Given the description of an element on the screen output the (x, y) to click on. 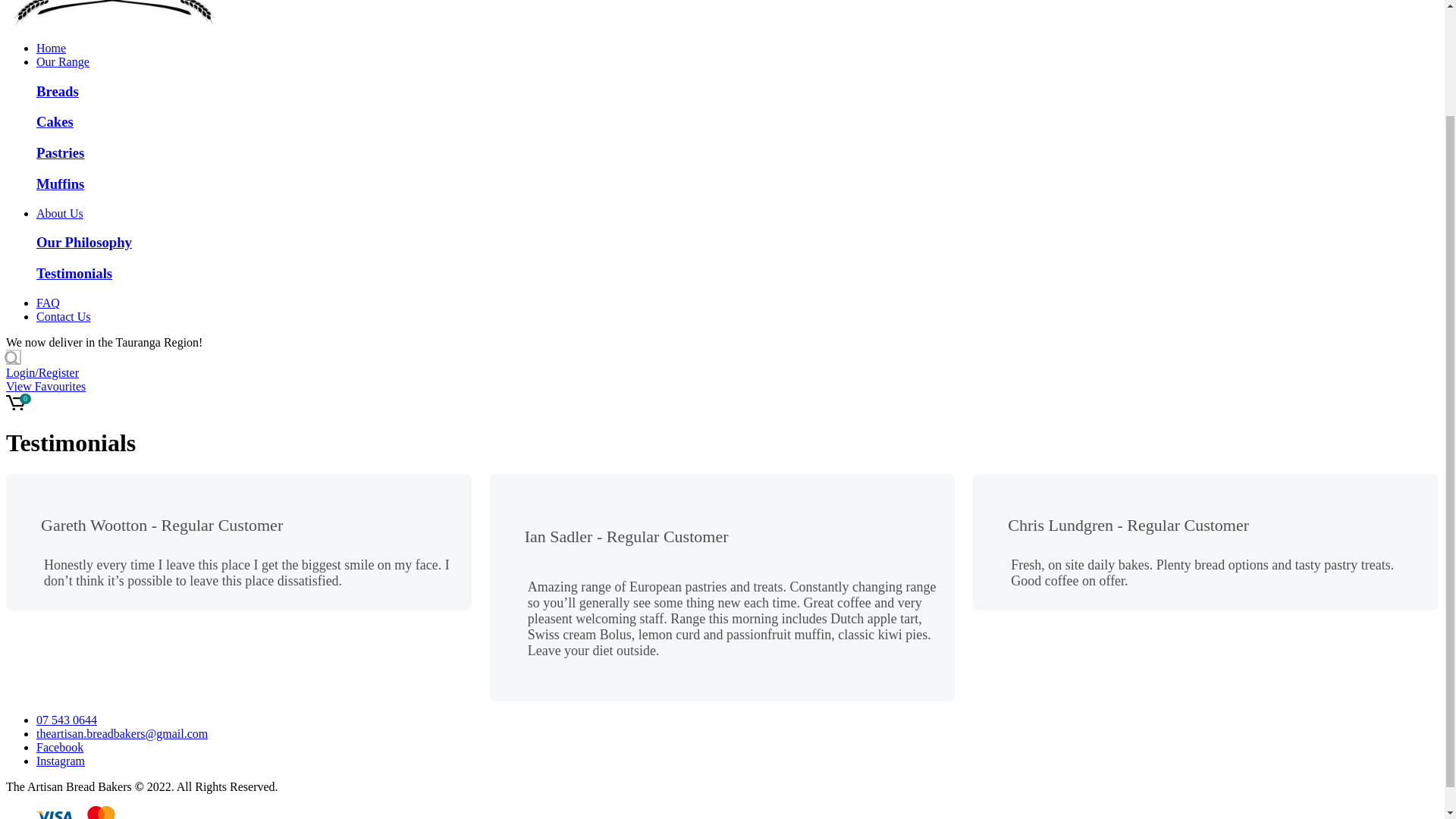
Muffins (60, 183)
FAQ (47, 302)
Breads (57, 91)
Cakes (55, 121)
About Us (59, 213)
Facebook (59, 747)
Our Range (62, 61)
Home (50, 47)
View Favourites (45, 386)
Instagram (60, 760)
